Given the description of an element on the screen output the (x, y) to click on. 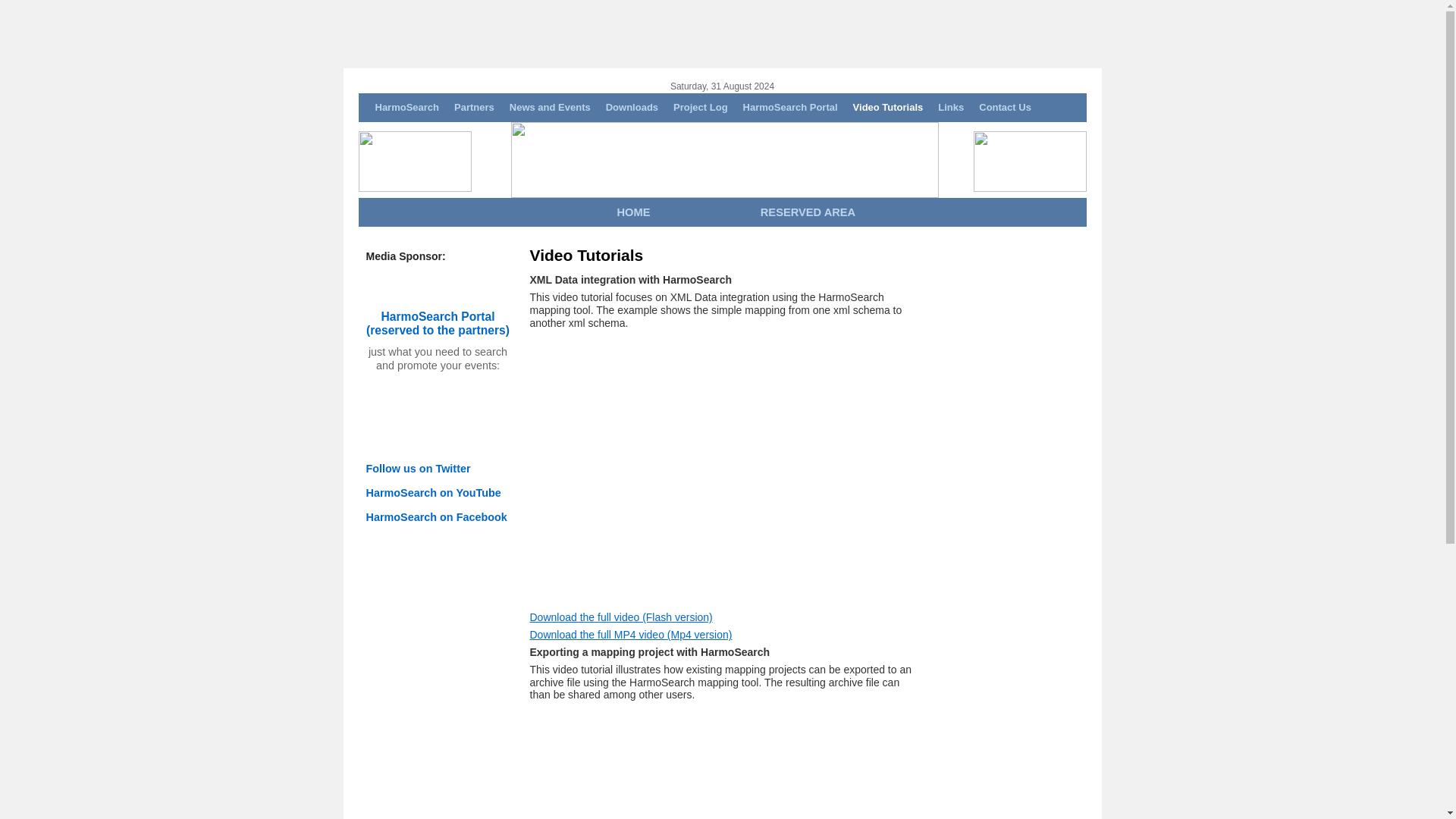
News and Events (550, 107)
Downloads (631, 107)
HarmoSearch (406, 107)
HarmoSearch on YouTube (432, 492)
Follow us on Twitter (417, 468)
Contact Us (1005, 107)
Project Log (700, 107)
Links (950, 107)
HOME (633, 212)
HarmoSearch on Facebook (435, 517)
